Given the description of an element on the screen output the (x, y) to click on. 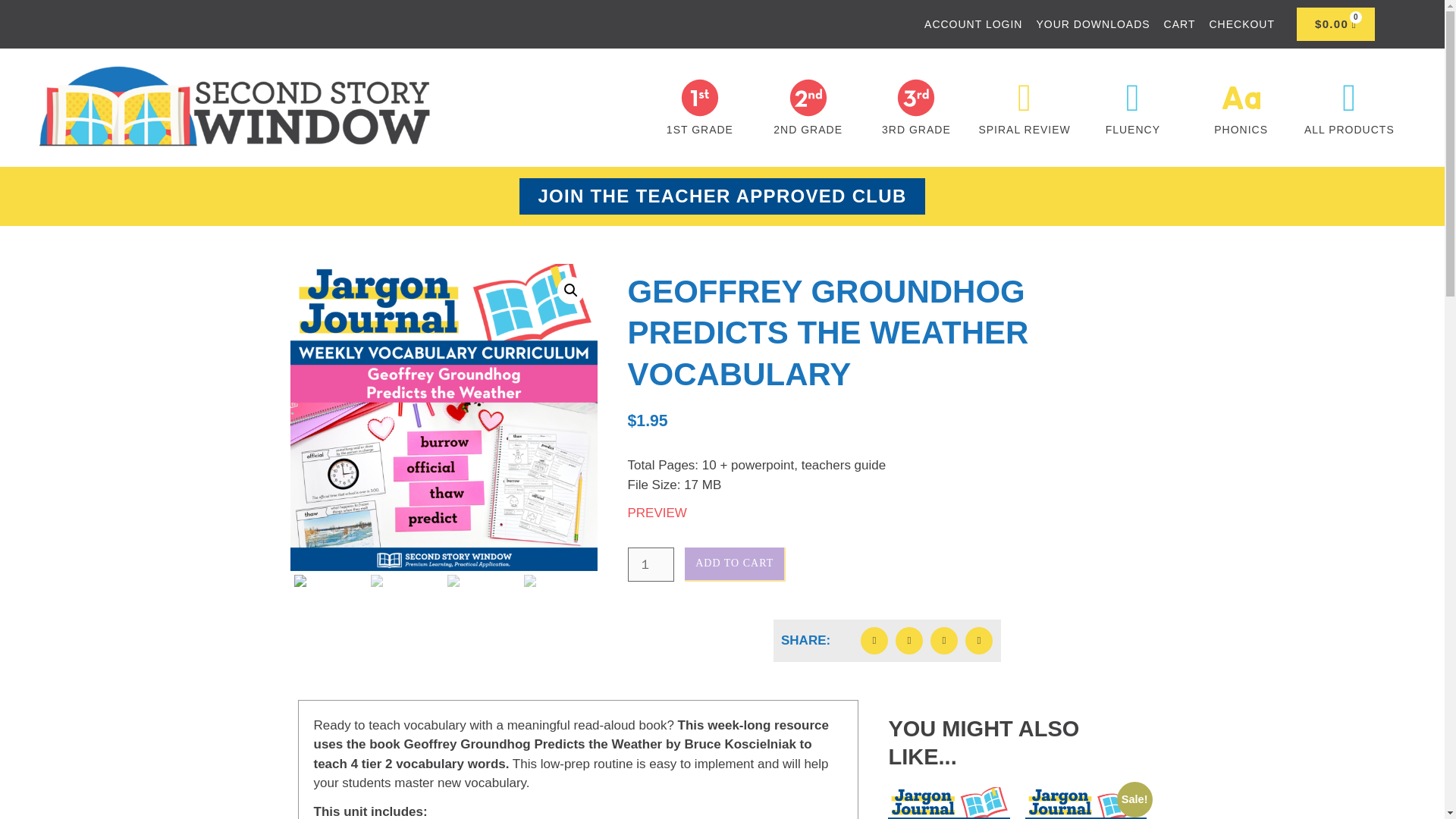
SPIRAL REVIEW (1024, 129)
Geoffrey Groundhog Predicts the Weather Vocabulary (442, 416)
3RD GRADE (916, 129)
1 (651, 564)
FLUENCY (1132, 129)
JOIN THE TEACHER APPROVED CLUB (721, 196)
CART (1179, 23)
YOUR DOWNLOADS (1092, 23)
ACCOUNT LOGIN (973, 23)
ALL PRODUCTS (1349, 129)
PHONICS (1241, 129)
2ND GRADE (808, 129)
1ST GRADE (699, 129)
CHECKOUT (1241, 23)
